Given the description of an element on the screen output the (x, y) to click on. 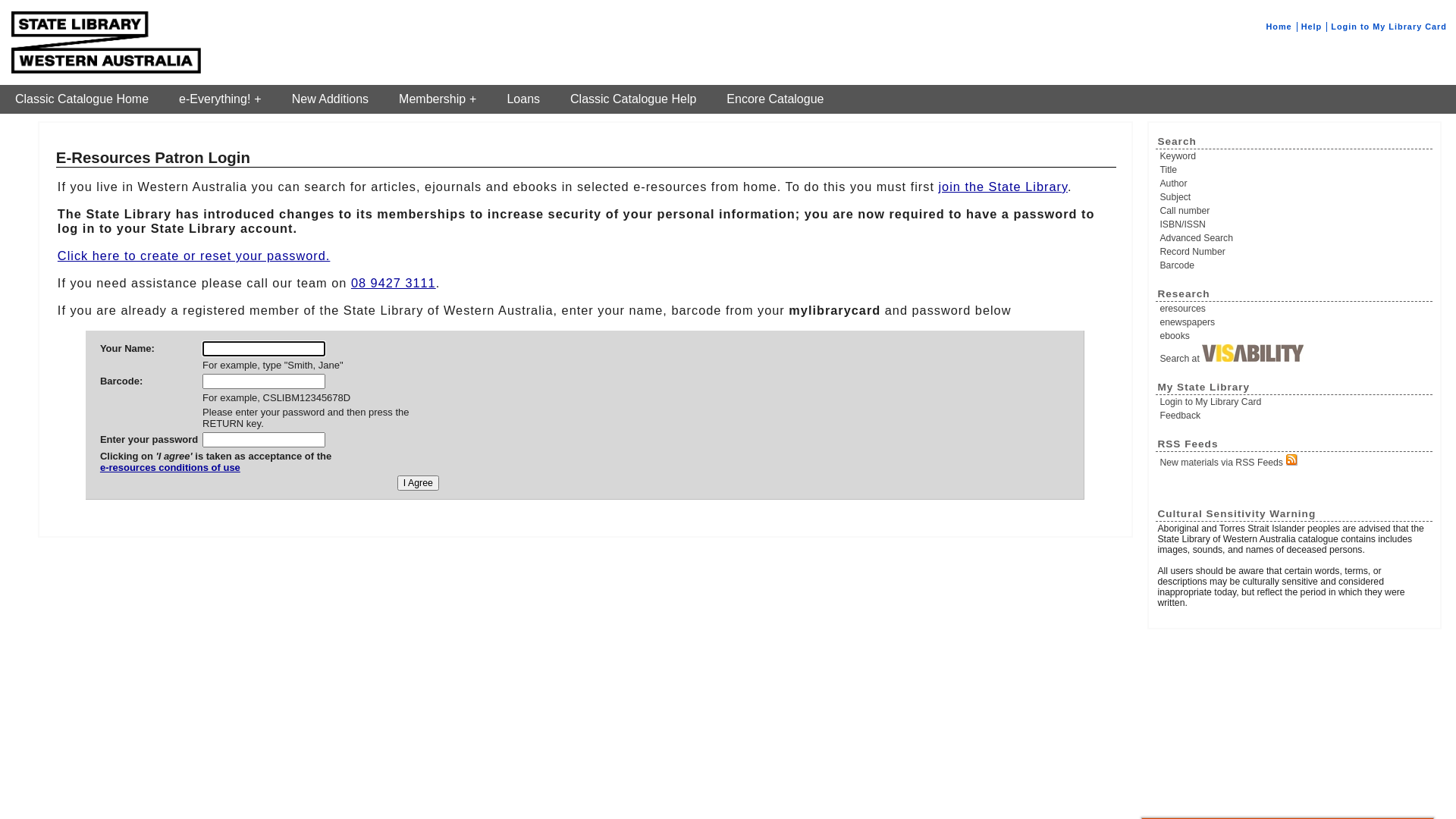
08 9427 3111 Element type: text (393, 282)
Encore Catalogue Element type: text (774, 98)
e-Everything! Element type: text (219, 98)
e-resources conditions of use Element type: text (215, 472)
Keyword Element type: text (1294, 155)
Record Number Element type: text (1294, 251)
enewspapers Element type: text (1294, 321)
Membership Element type: text (437, 98)
New Additions Element type: text (329, 98)
Barcode Element type: text (1294, 265)
Author Element type: text (1294, 183)
Search at Element type: text (1294, 354)
Login to My Library Card Element type: text (1388, 26)
Classic Catalogue Help Element type: text (633, 98)
Feedback Element type: text (1294, 415)
eresources Element type: text (1294, 308)
Loans Element type: text (523, 98)
I Agree Element type: text (418, 482)
Login to My Library Card Element type: text (1294, 401)
Home Element type: text (1278, 26)
Call number Element type: text (1294, 210)
join the State Library Element type: text (1002, 186)
Classic Catalogue Home Element type: text (81, 98)
Advanced Search Element type: text (1294, 237)
New materials via RSS Feeds Element type: text (1294, 460)
Subject Element type: text (1294, 196)
Help Element type: text (1311, 26)
Title Element type: text (1294, 169)
ebooks Element type: text (1294, 335)
ISBN/ISSN Element type: text (1294, 224)
Click here to create or reset your password. Element type: text (193, 255)
